Given the description of an element on the screen output the (x, y) to click on. 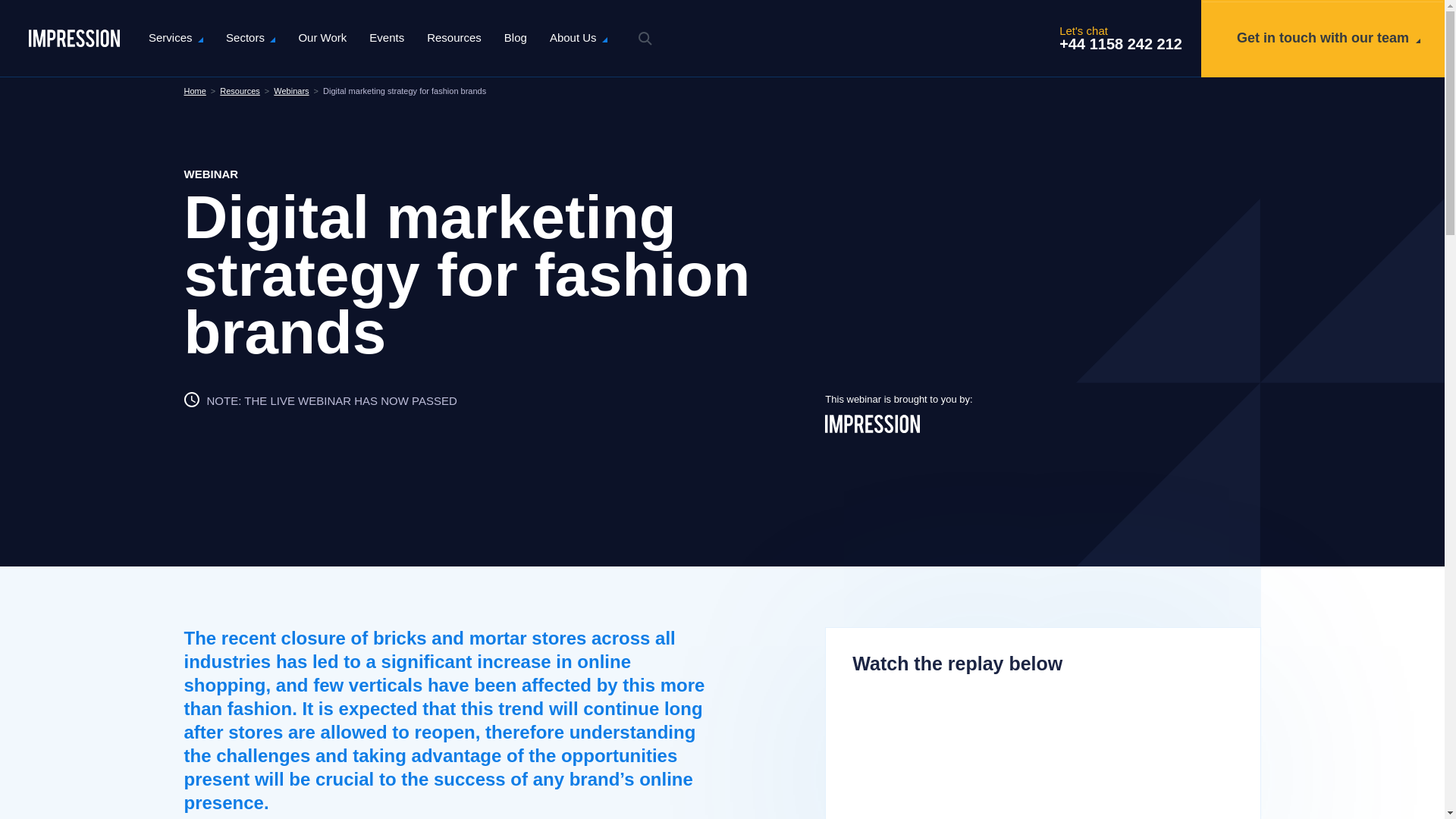
Go to the homepage (74, 38)
